Given the description of an element on the screen output the (x, y) to click on. 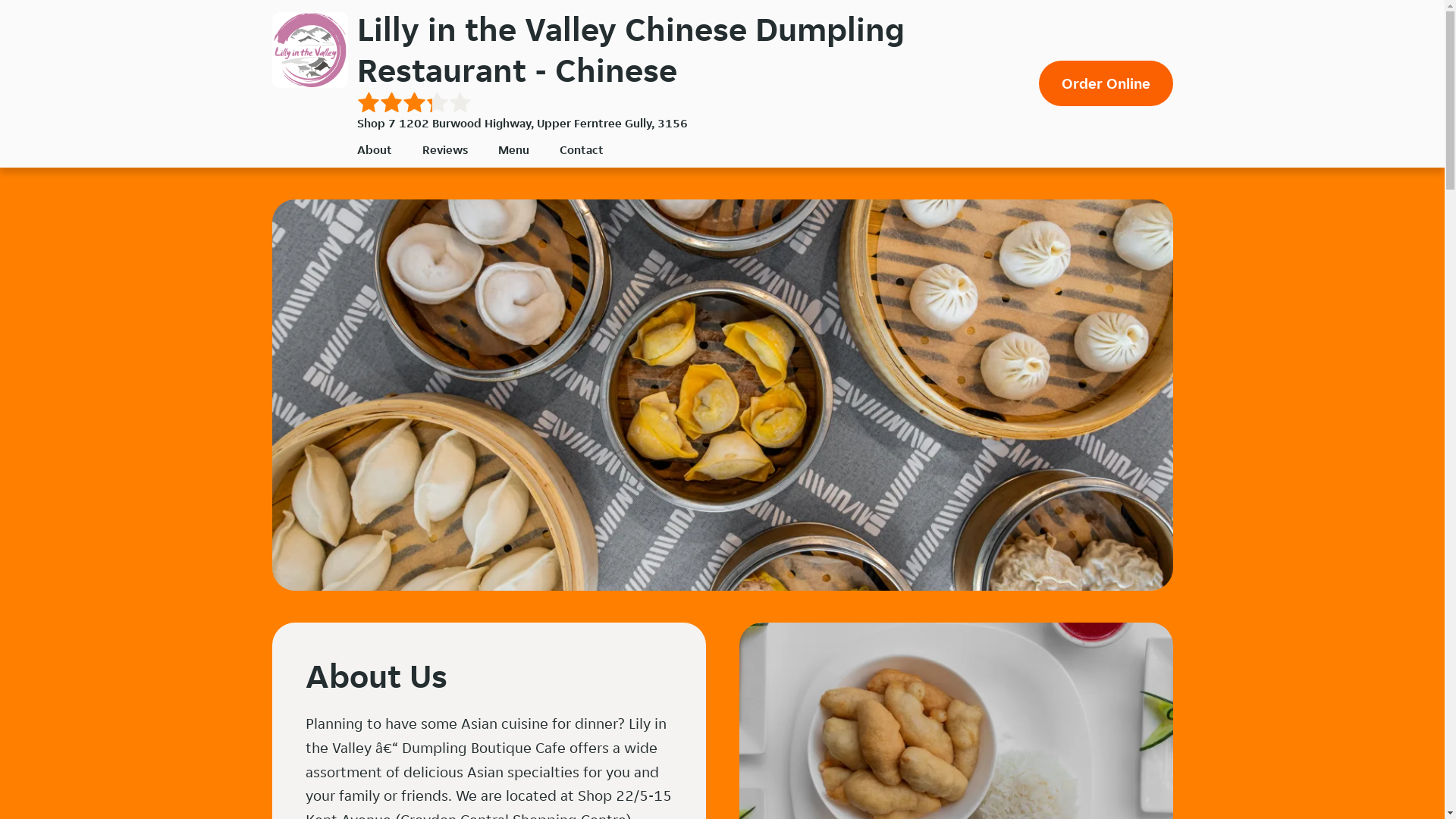
About Element type: text (373, 149)
Lilly in the Valley Chinese Dumpling Restaurant Element type: hover (309, 49)
Contact Element type: text (581, 149)
Order Online Element type: text (1105, 83)
Menu Element type: text (512, 149)
Reviews Element type: text (444, 149)
